Given the description of an element on the screen output the (x, y) to click on. 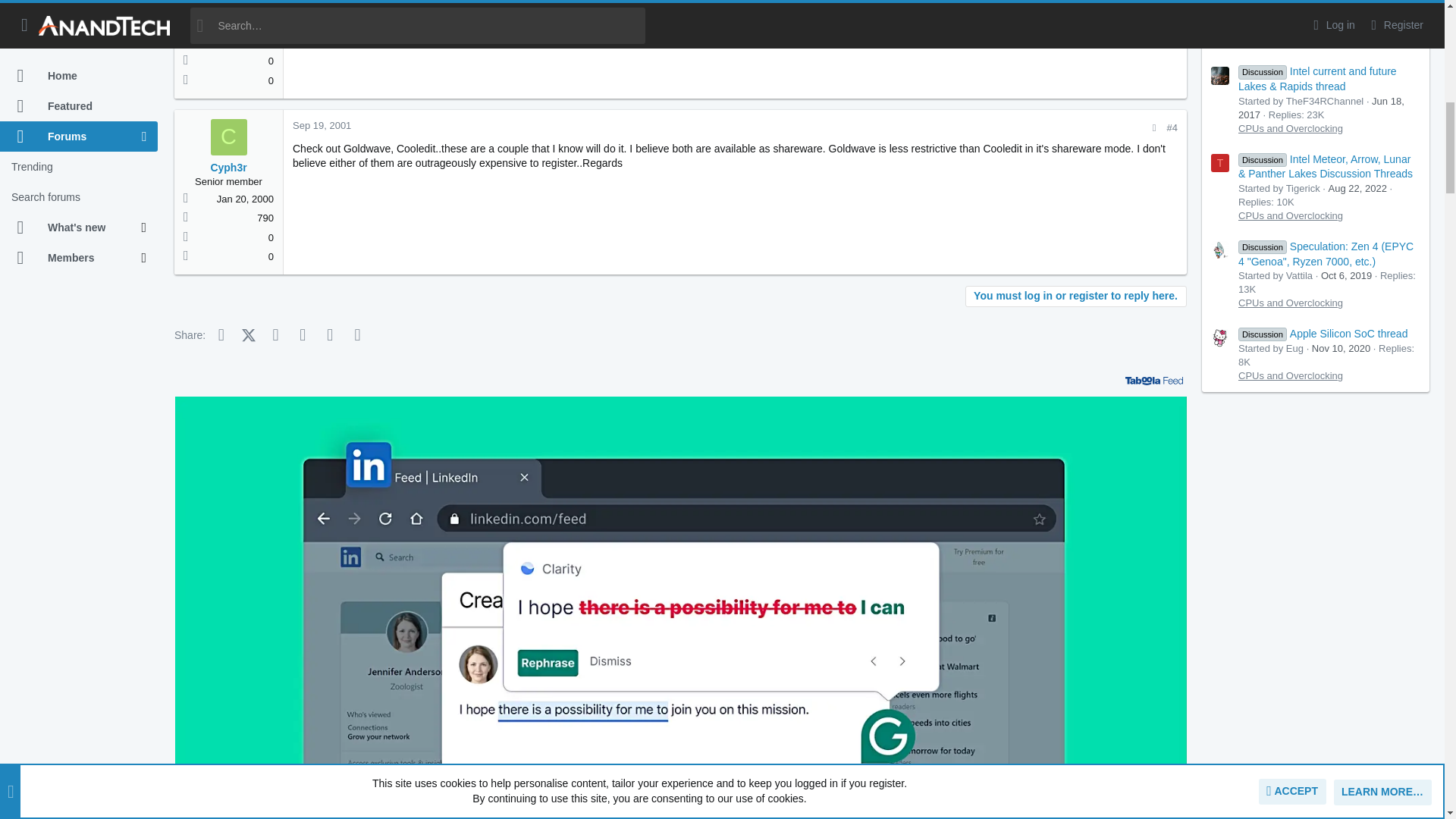
Sep 19, 2001 at 8:07 PM (321, 125)
